Given the description of an element on the screen output the (x, y) to click on. 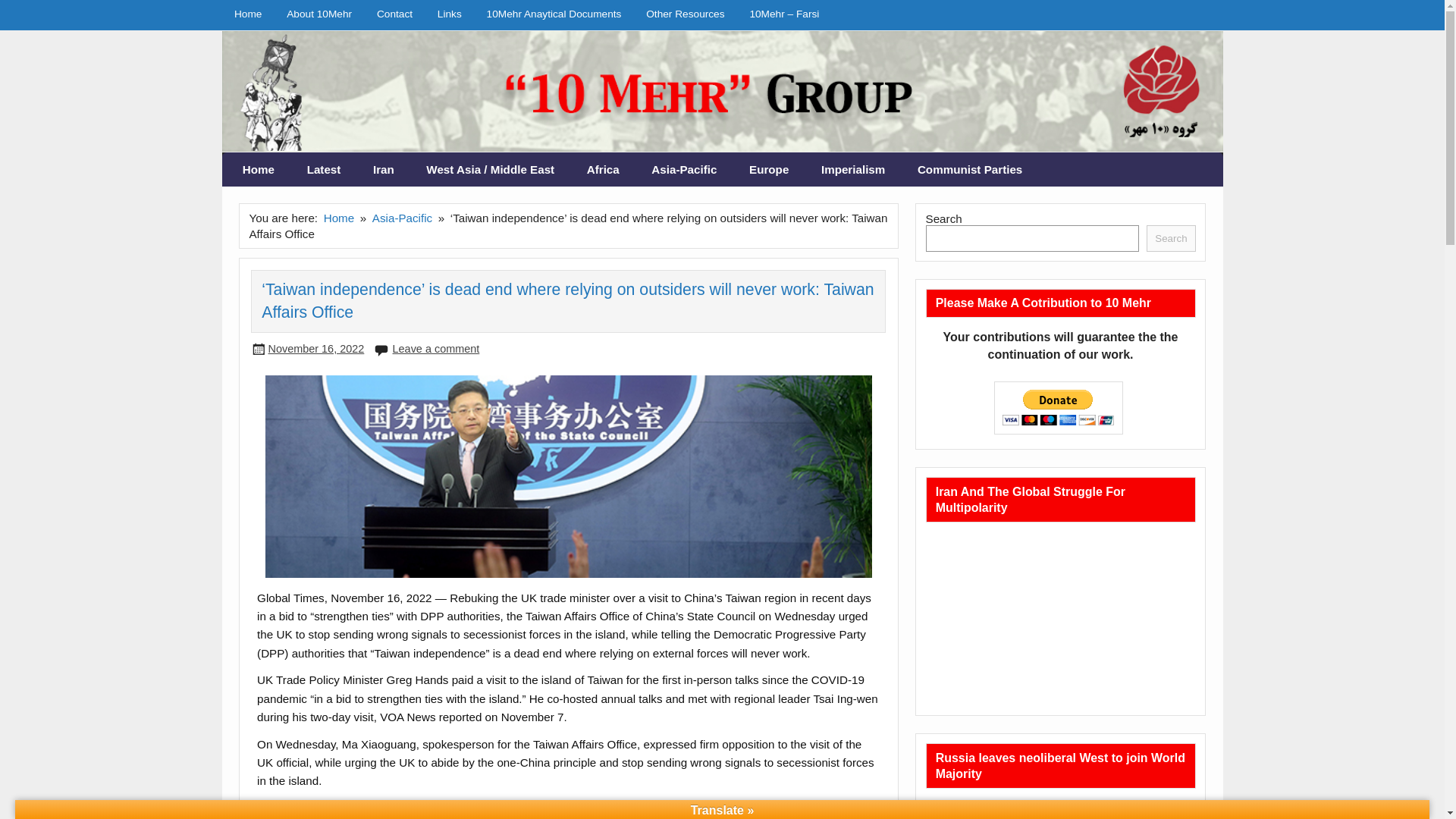
Africa (602, 170)
Contact (394, 14)
Iran (383, 170)
Europe (769, 170)
Latest (322, 170)
Search (1171, 238)
Asia-Pacific (683, 170)
Imperialism (853, 170)
Asia-Pacific (402, 217)
Home (339, 217)
10Mehr Anaytical Documents (553, 14)
5:57 pm (315, 348)
About 10Mehr (320, 14)
Other Resources (684, 14)
PayPal - The safer, easier way to pay online! (1058, 407)
